Given the description of an element on the screen output the (x, y) to click on. 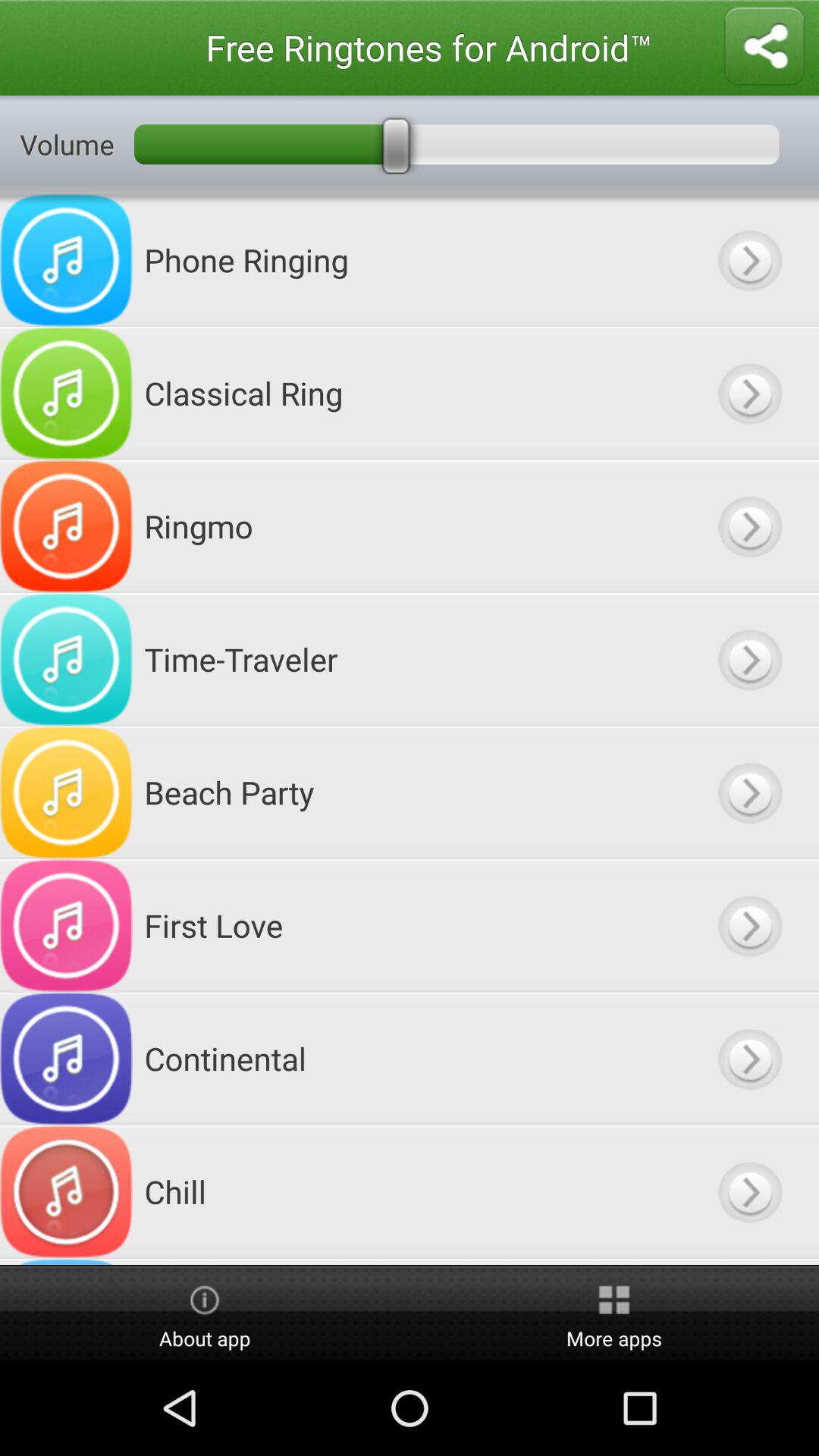
go to music (749, 1058)
